Given the description of an element on the screen output the (x, y) to click on. 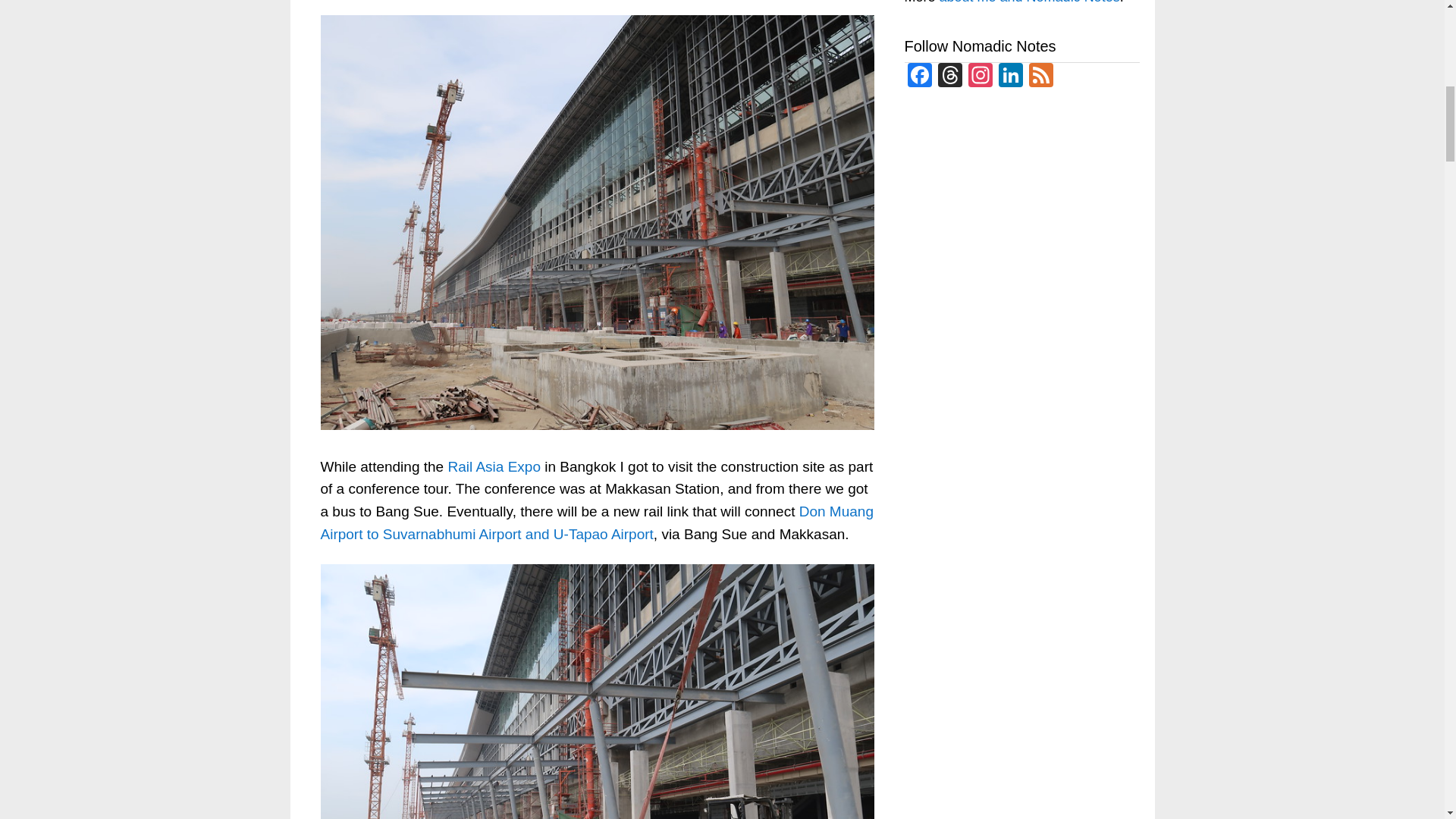
Rail Asia Expo (493, 466)
Threads (948, 76)
Facebook (919, 76)
Instagram (978, 76)
